Given the description of an element on the screen output the (x, y) to click on. 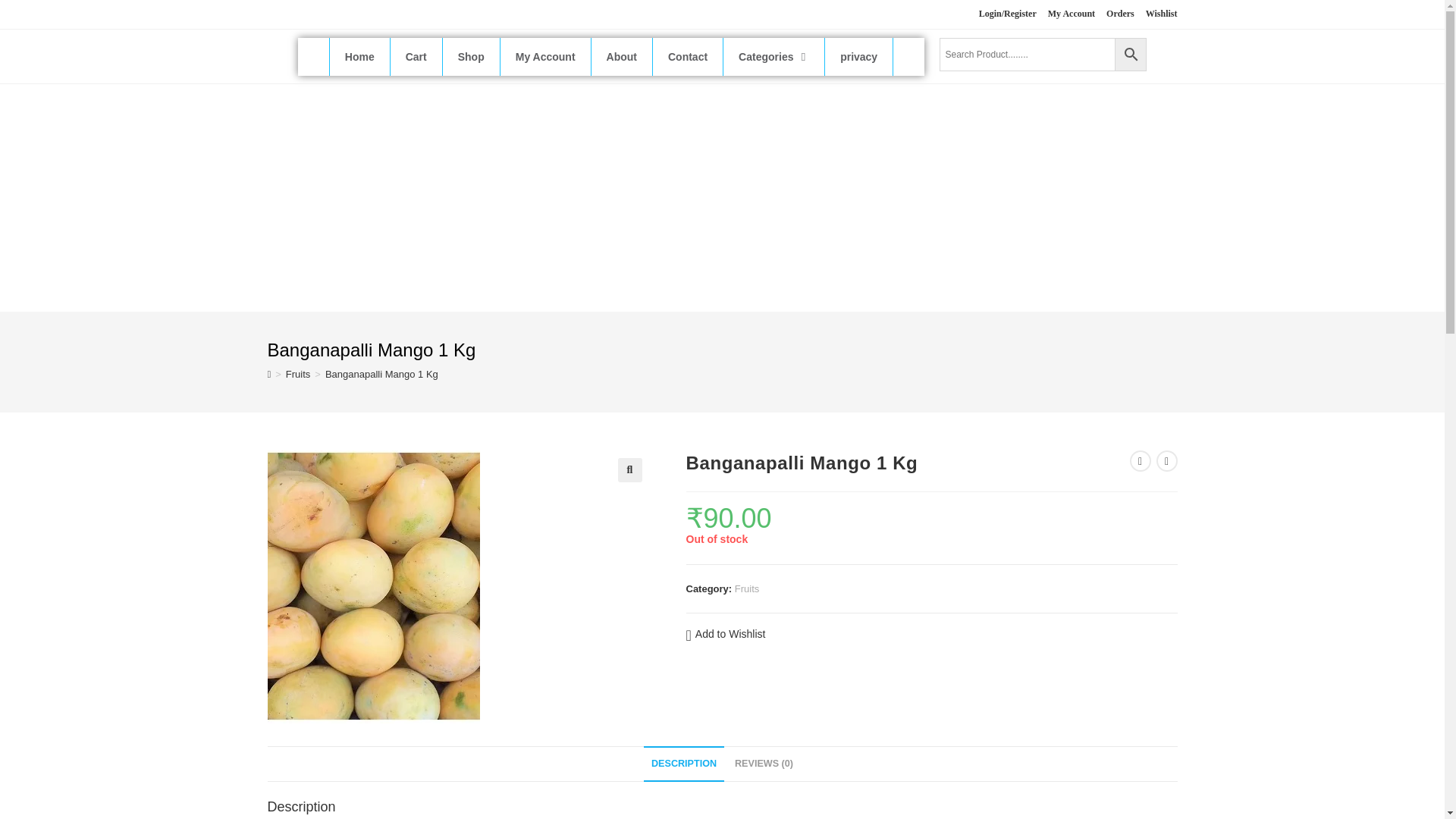
Contact (687, 56)
About (621, 56)
Cart (416, 56)
Wishlist (1161, 13)
Orders (1120, 13)
Categories (774, 56)
My Account (1071, 13)
Shop (471, 56)
My Account (545, 56)
Home (359, 56)
